Given the description of an element on the screen output the (x, y) to click on. 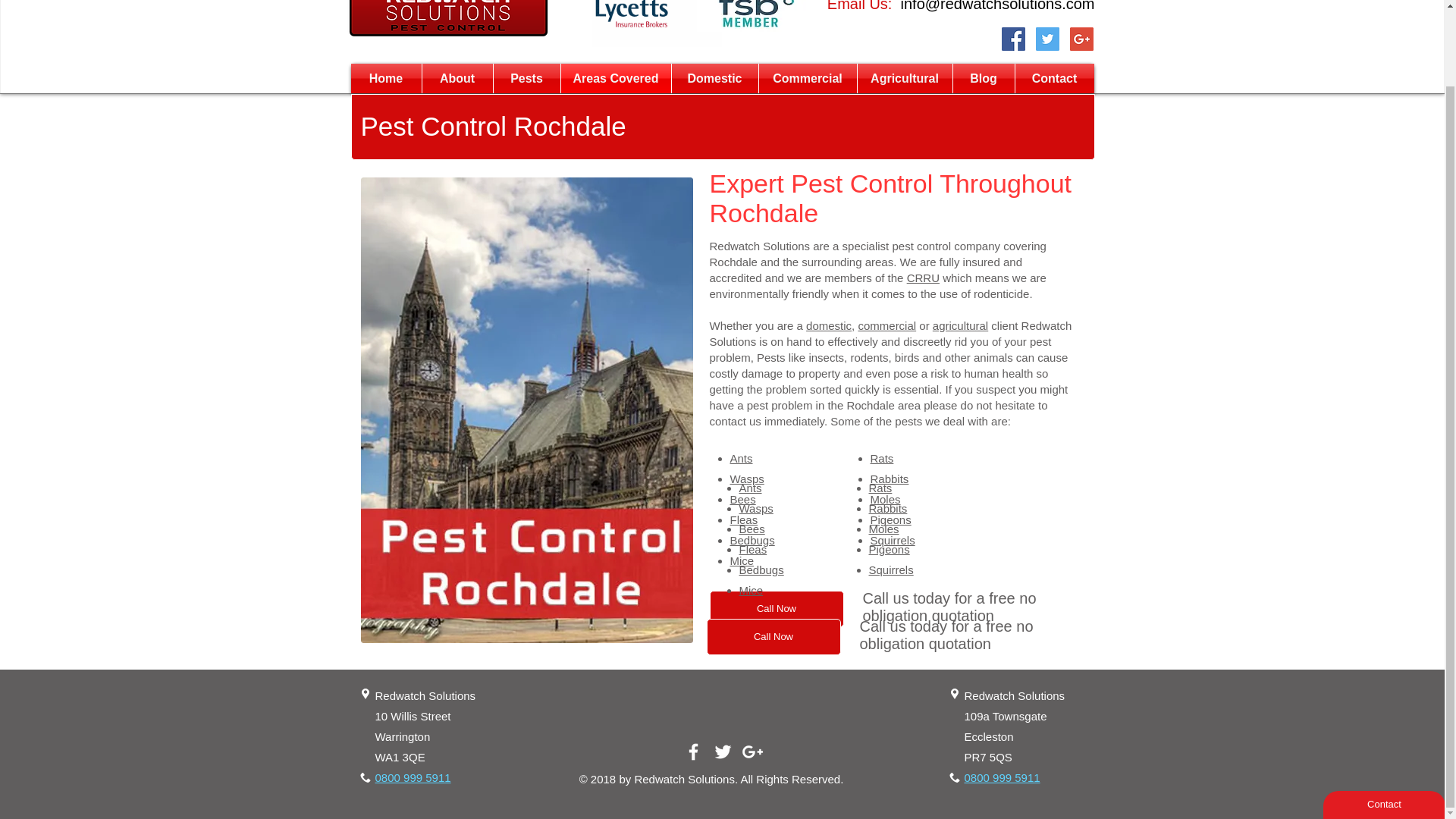
About (457, 78)
Pests (526, 78)
Areas Covered (615, 78)
Home (385, 78)
